Given the description of an element on the screen output the (x, y) to click on. 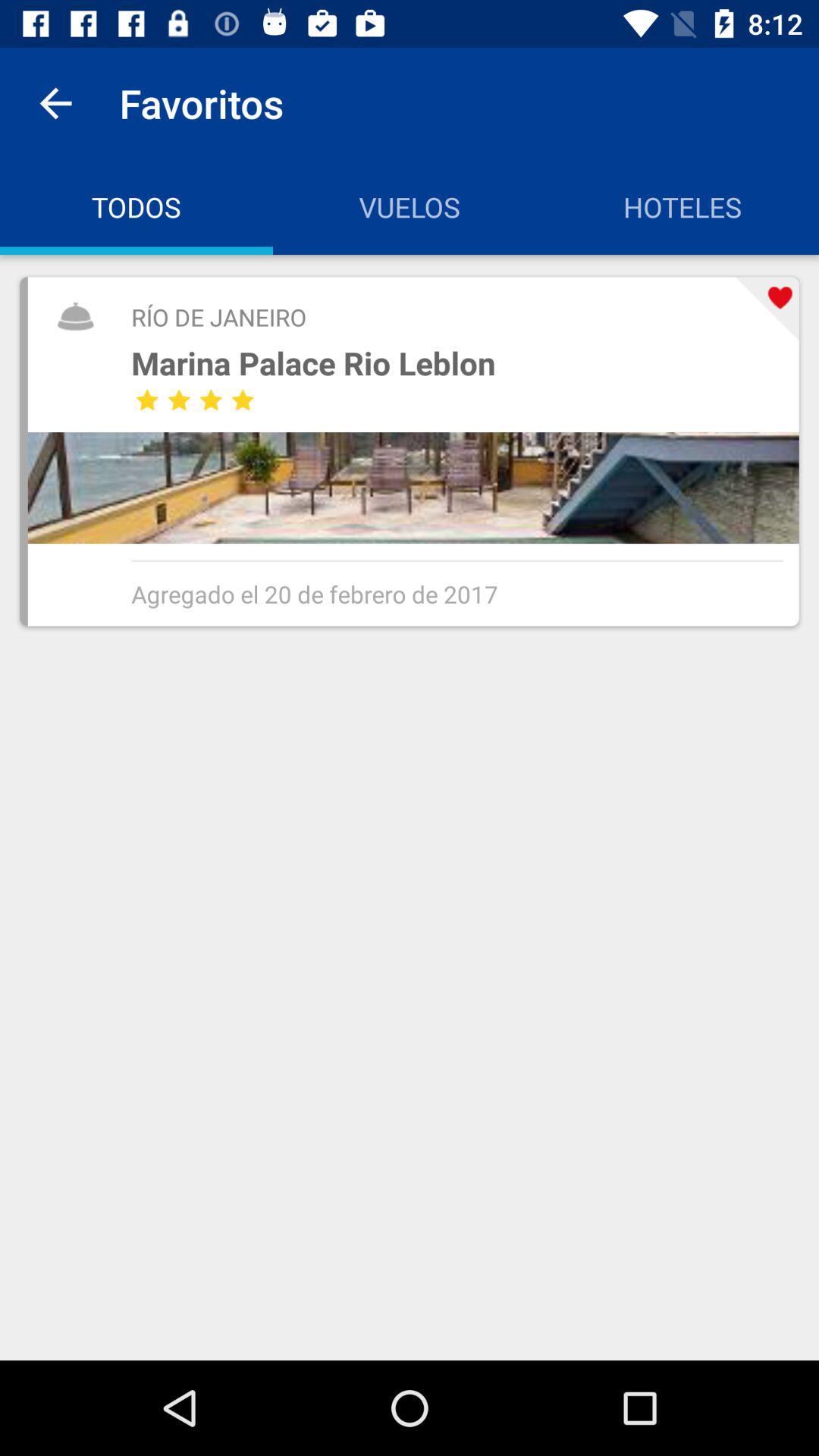
turn on item next to favoritos item (55, 103)
